Given the description of an element on the screen output the (x, y) to click on. 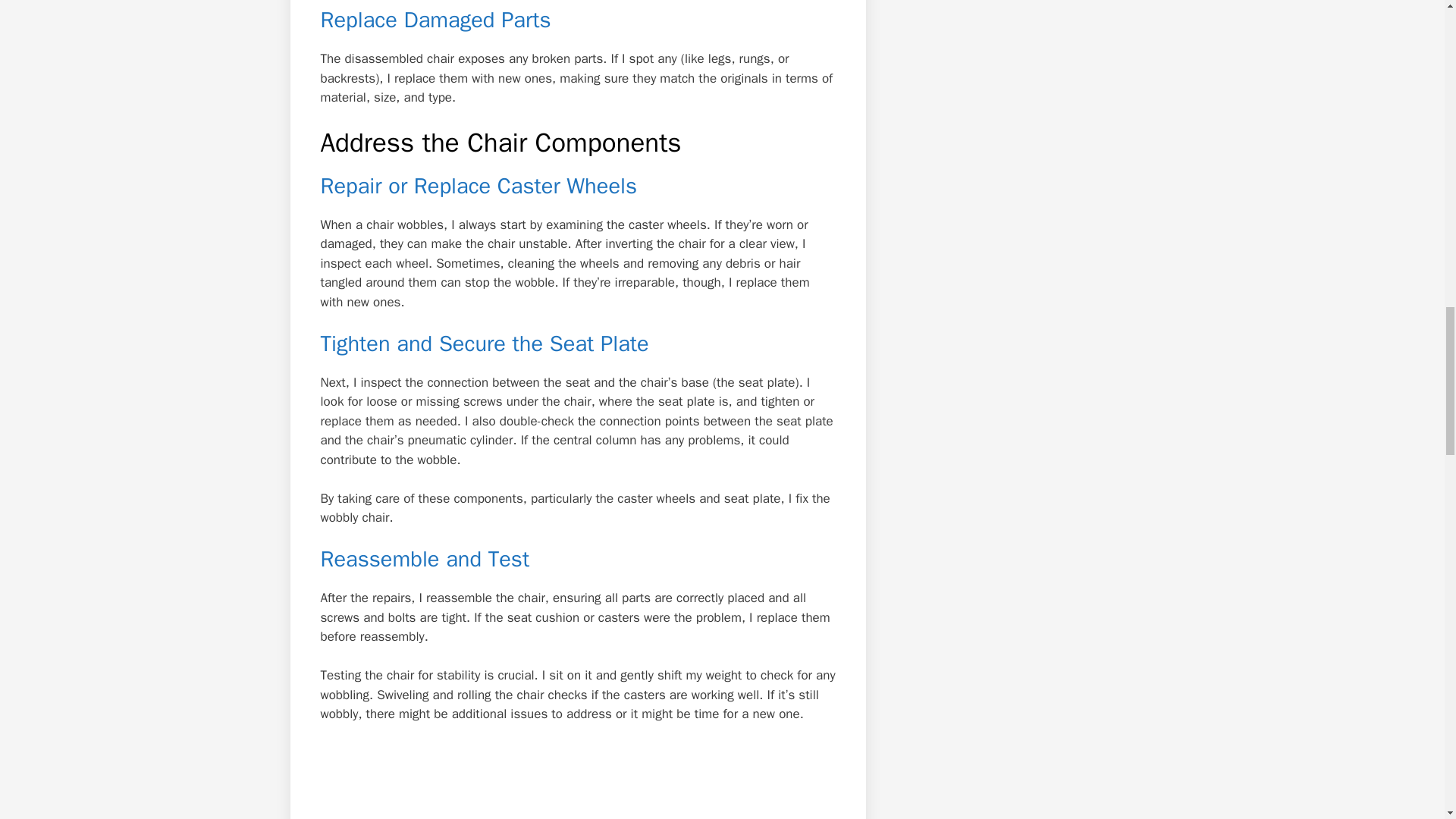
YouTube video player (577, 780)
